Given the description of an element on the screen output the (x, y) to click on. 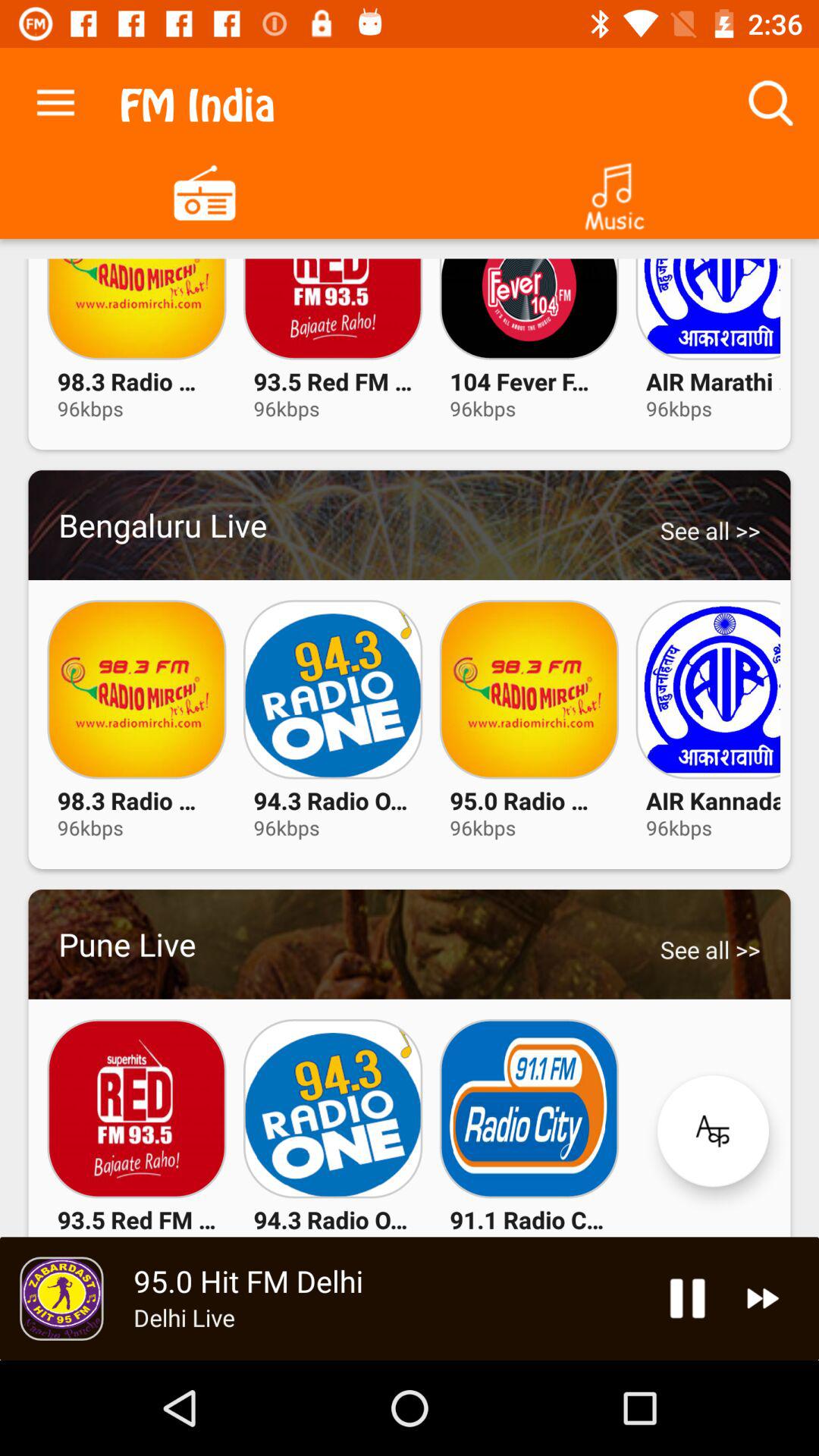
switch to music (614, 190)
